Given the description of an element on the screen output the (x, y) to click on. 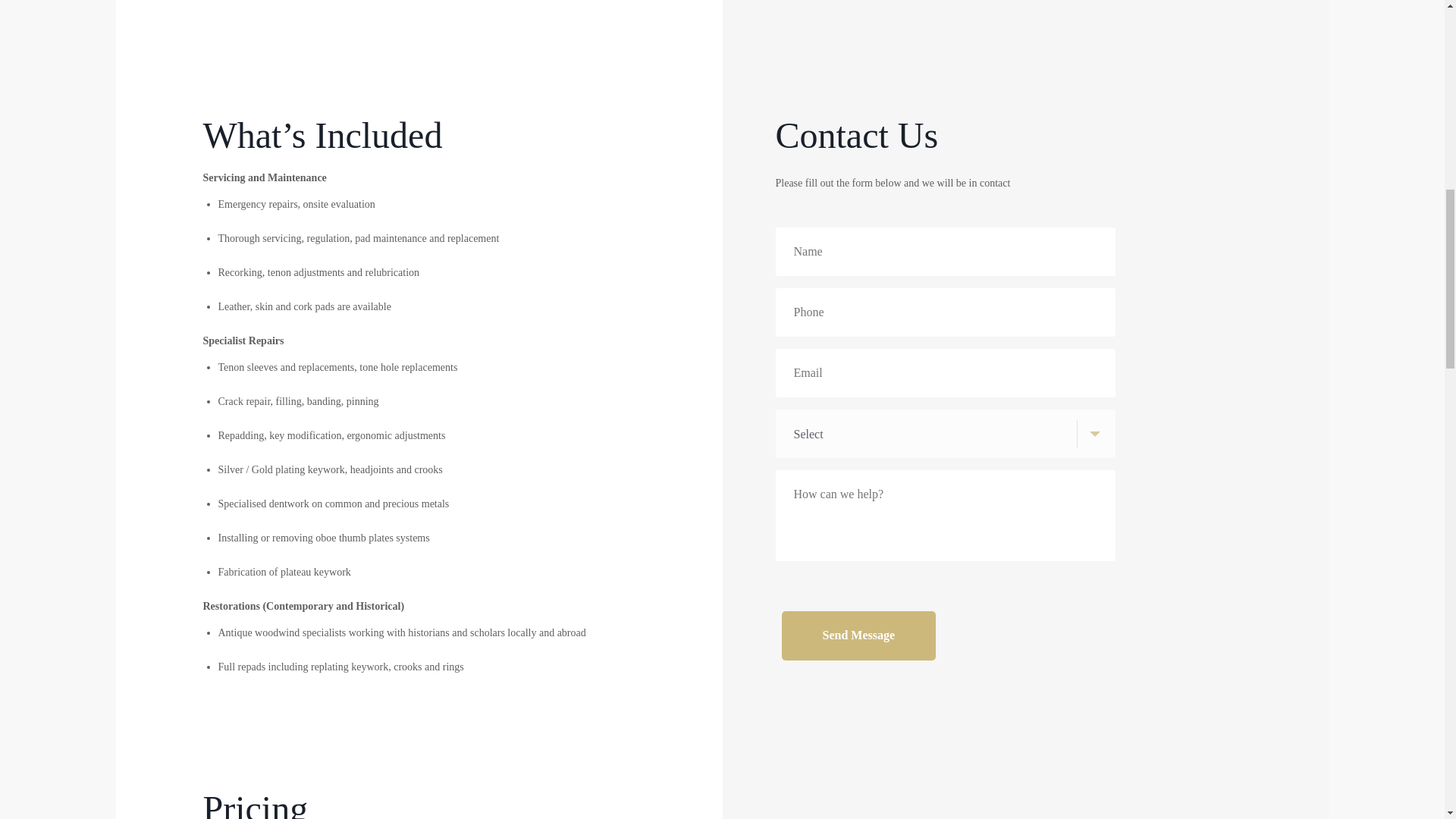
Send Message (858, 635)
